Given the description of an element on the screen output the (x, y) to click on. 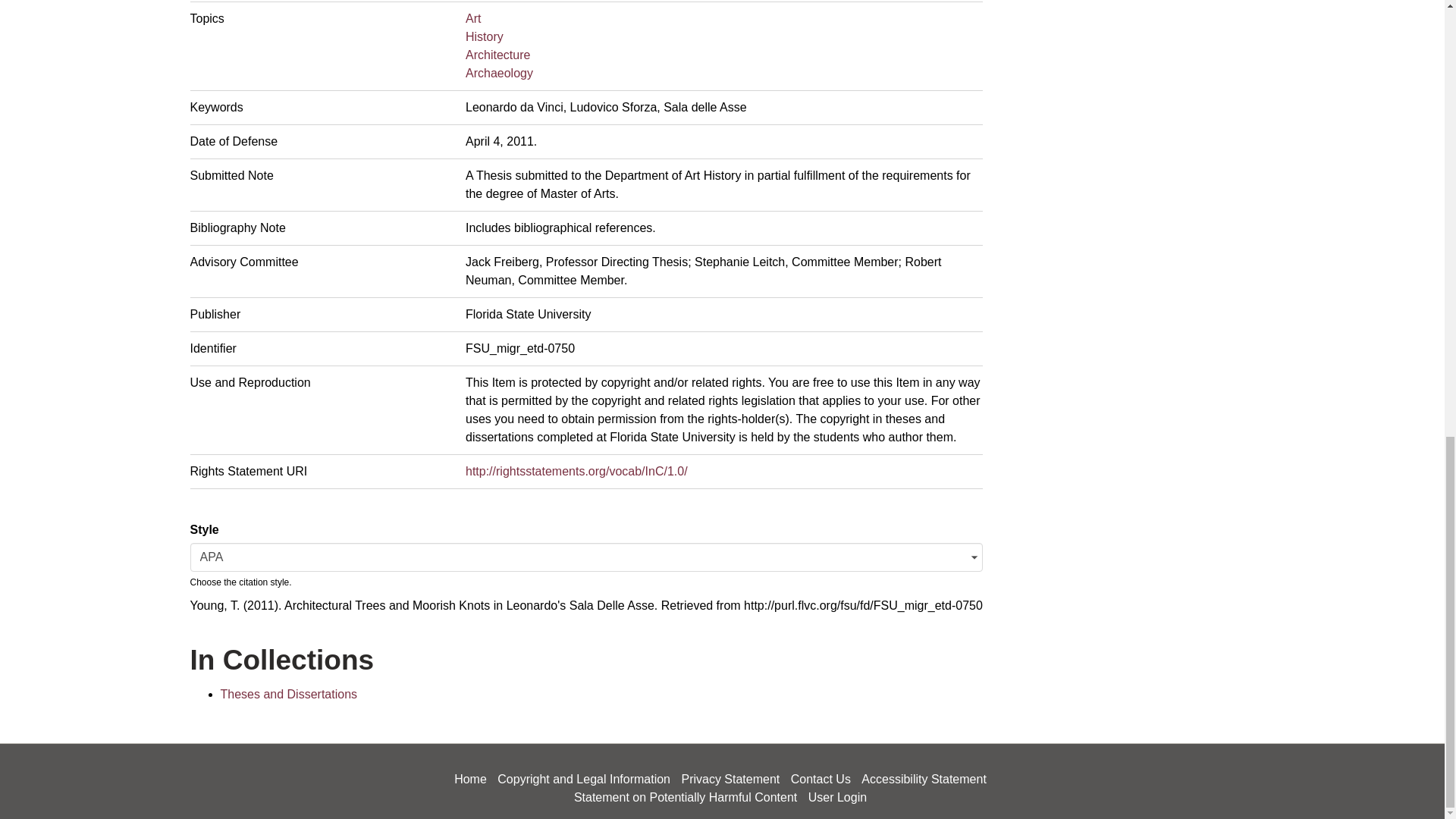
History (484, 37)
Archaeology (498, 73)
Art (472, 18)
Architecture (497, 55)
Theses and Dissertations (287, 694)
